Given the description of an element on the screen output the (x, y) to click on. 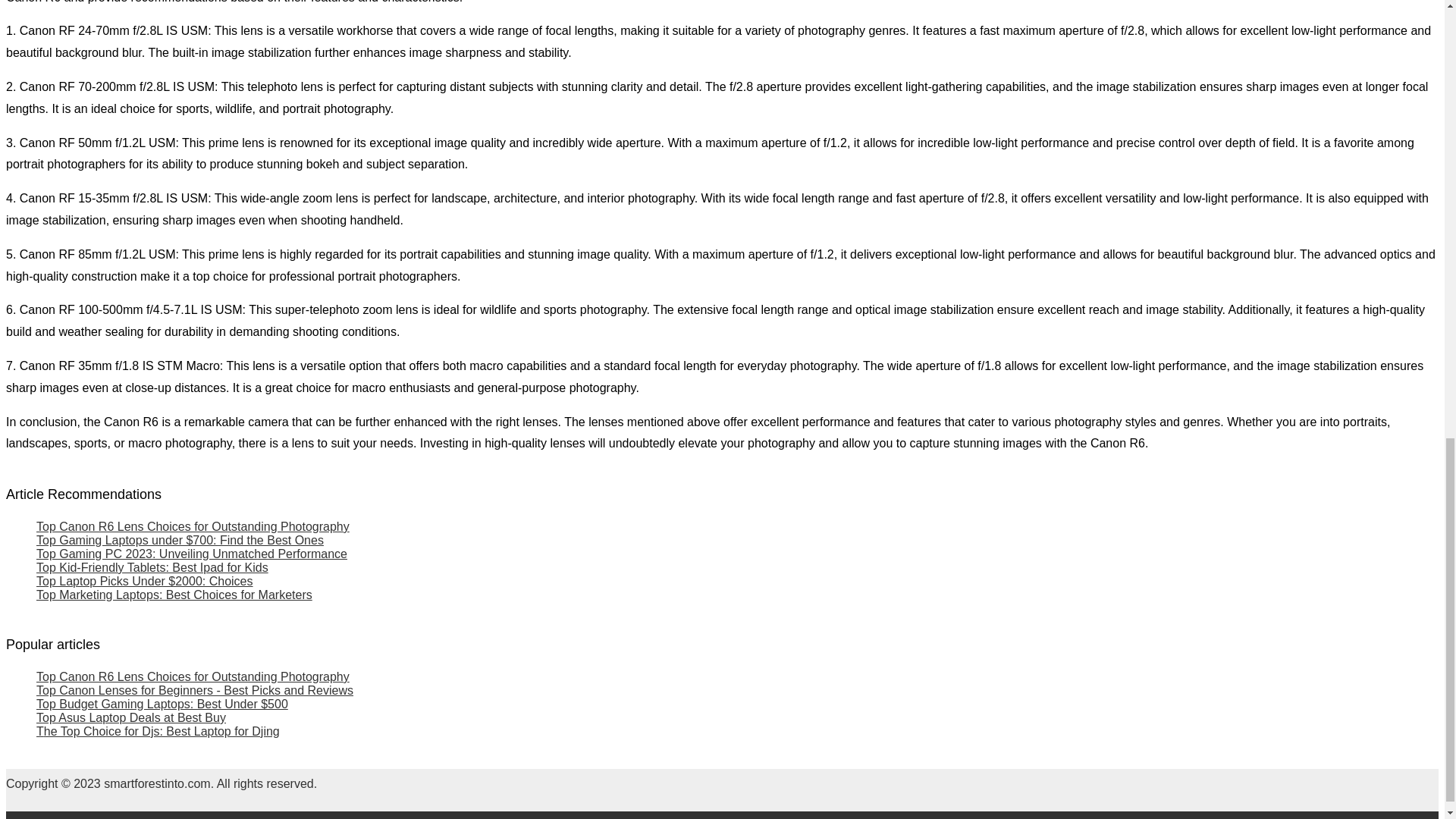
Top Gaming PC 2023: Unveiling Unmatched Performance (191, 553)
Top Canon R6 Lens Choices for Outstanding Photography (192, 676)
Top Kid-Friendly Tablets: Best Ipad for Kids (151, 567)
Top Canon R6 Lens Choices for Outstanding Photography (192, 526)
The Top Choice for Djs: Best Laptop for Djing (157, 730)
Top Canon Lenses for Beginners - Best Picks and Reviews (194, 689)
Top Asus Laptop Deals at Best Buy (130, 717)
Top Marketing Laptops: Best Choices for Marketers (174, 594)
